Given the description of an element on the screen output the (x, y) to click on. 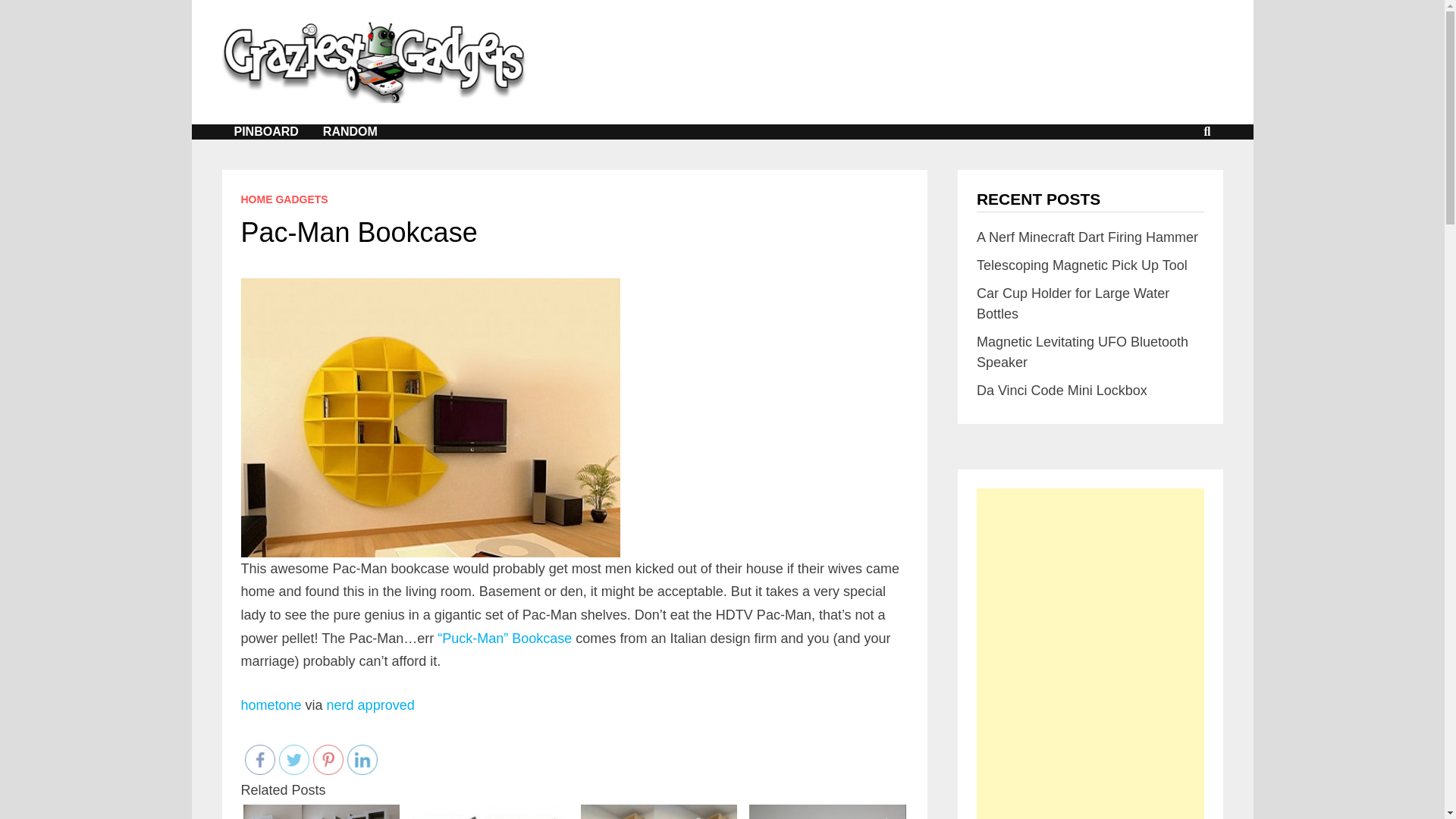
nerd approved (370, 704)
PINBOARD (265, 131)
pacman bookcase (430, 417)
RANDOM (350, 131)
FH001 are Giant Clear Plastic Green Speakers (827, 811)
FH001 are Giant Clear Plastic Green Speakers (827, 810)
hometone (271, 704)
Expanding Bookcase Looks Cool (320, 811)
HOME GADGETS (285, 199)
Twitter (293, 759)
